Given the description of an element on the screen output the (x, y) to click on. 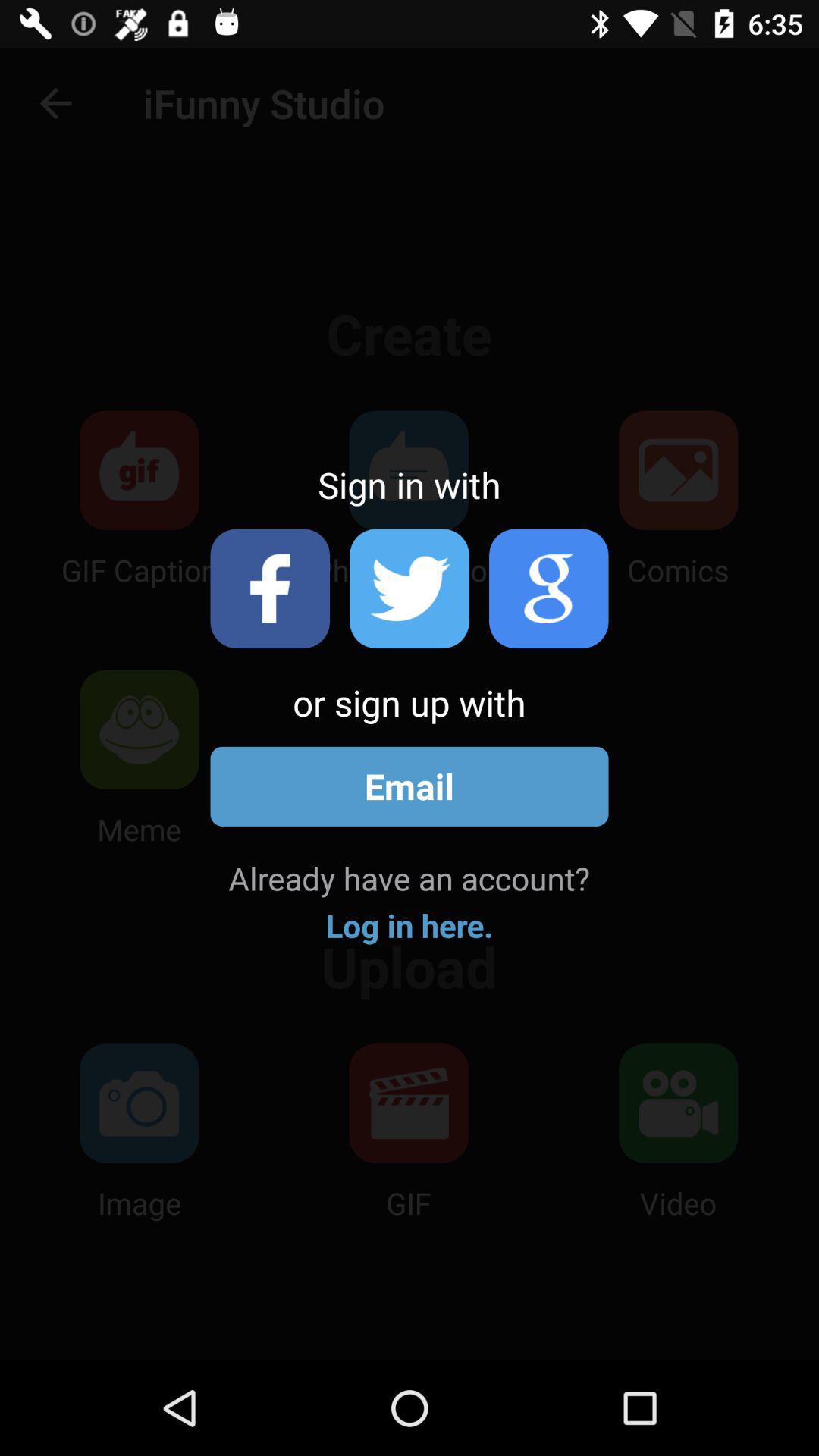
facebook sign-in (269, 588)
